Given the description of an element on the screen output the (x, y) to click on. 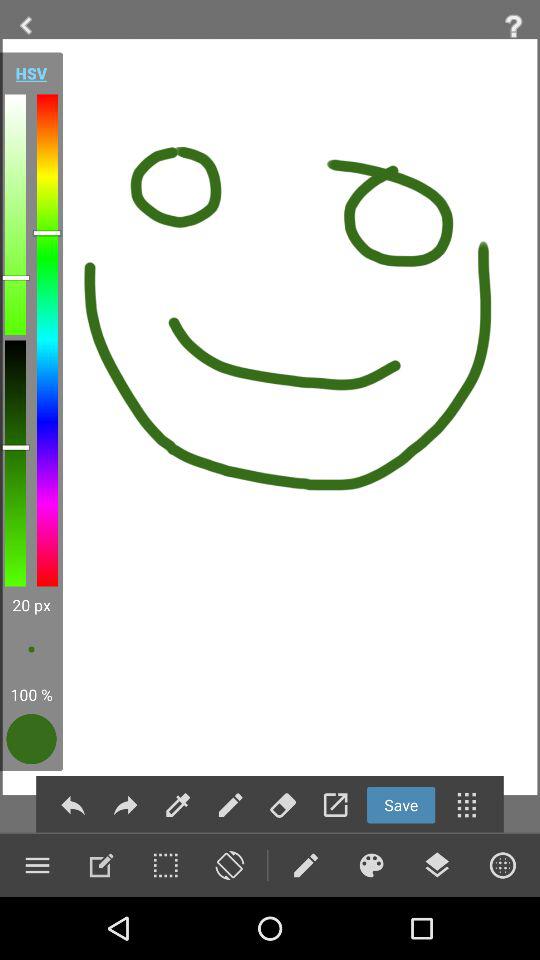
edit the paint (101, 865)
